Given the description of an element on the screen output the (x, y) to click on. 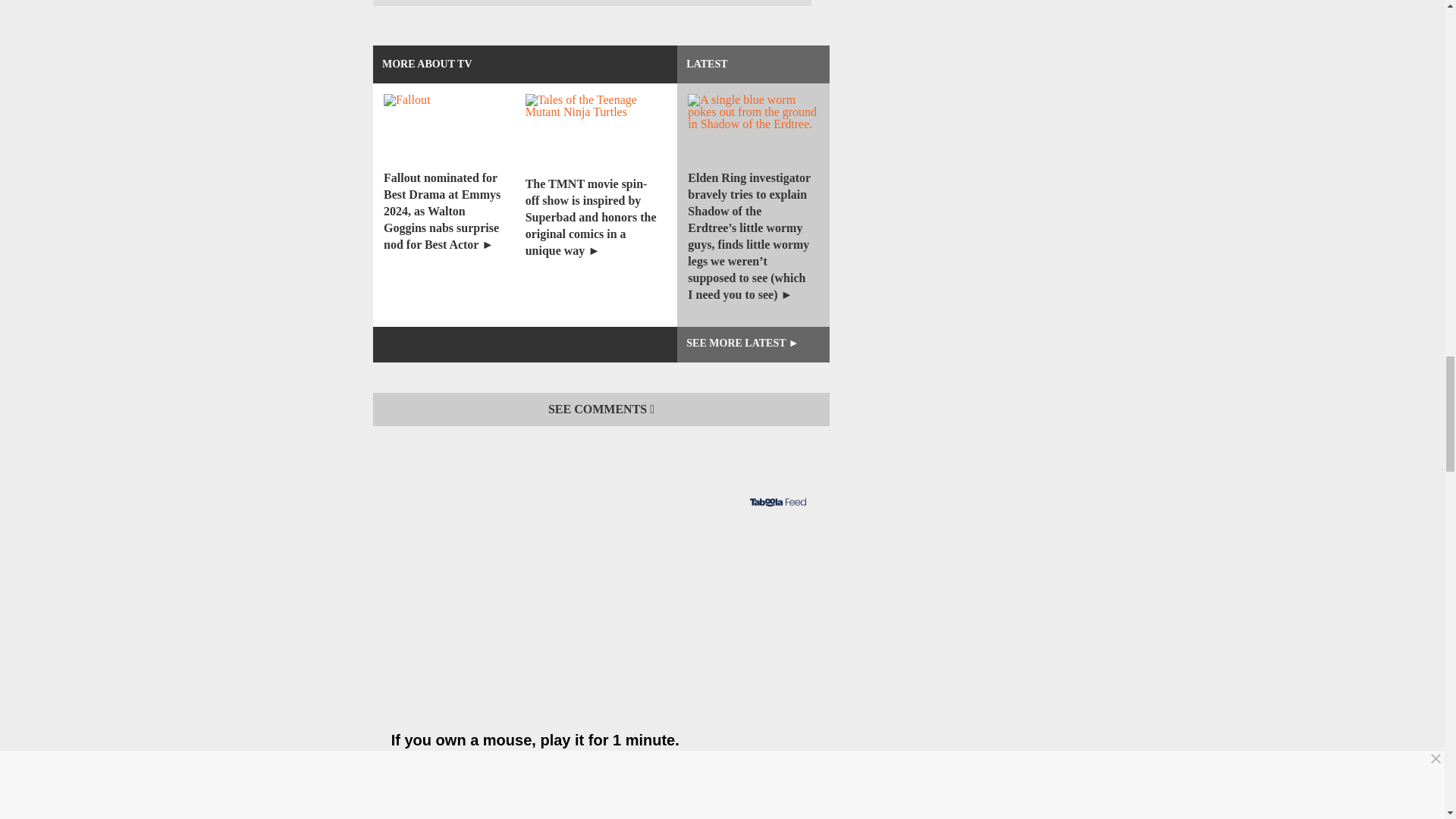
If you own a mouse, play it for 1 minute. (600, 592)
If you own a mouse, play it for 1 minute. (600, 730)
